Given the description of an element on the screen output the (x, y) to click on. 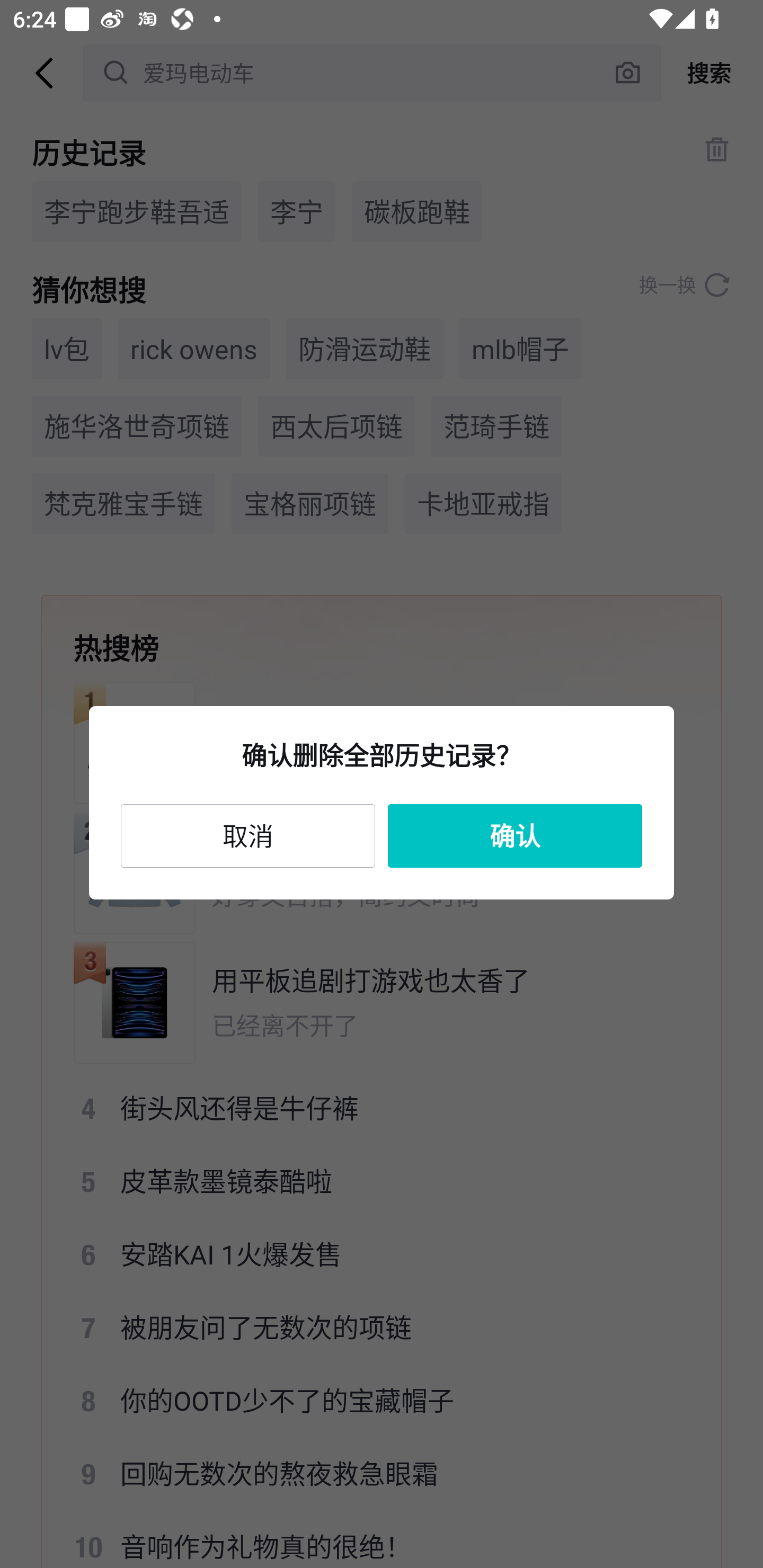
取消 (247, 835)
确认 (514, 835)
